Given the description of an element on the screen output the (x, y) to click on. 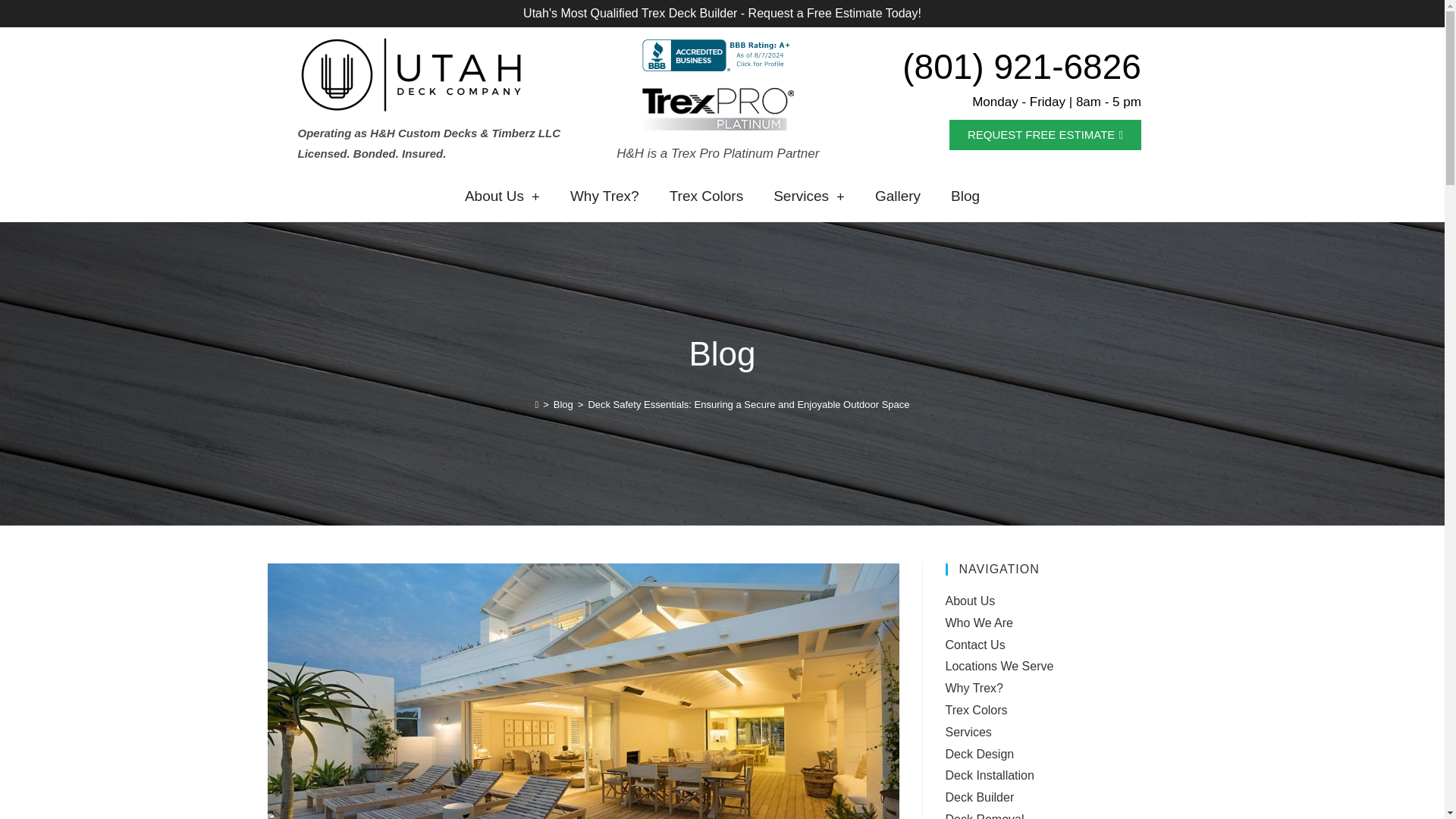
Blog (965, 196)
Why Trex? (603, 196)
About Us (501, 196)
REQUEST FREE ESTIMATE (1045, 134)
Services (809, 196)
Blog (563, 404)
Gallery (898, 196)
Trex Colors (705, 196)
